Given the description of an element on the screen output the (x, y) to click on. 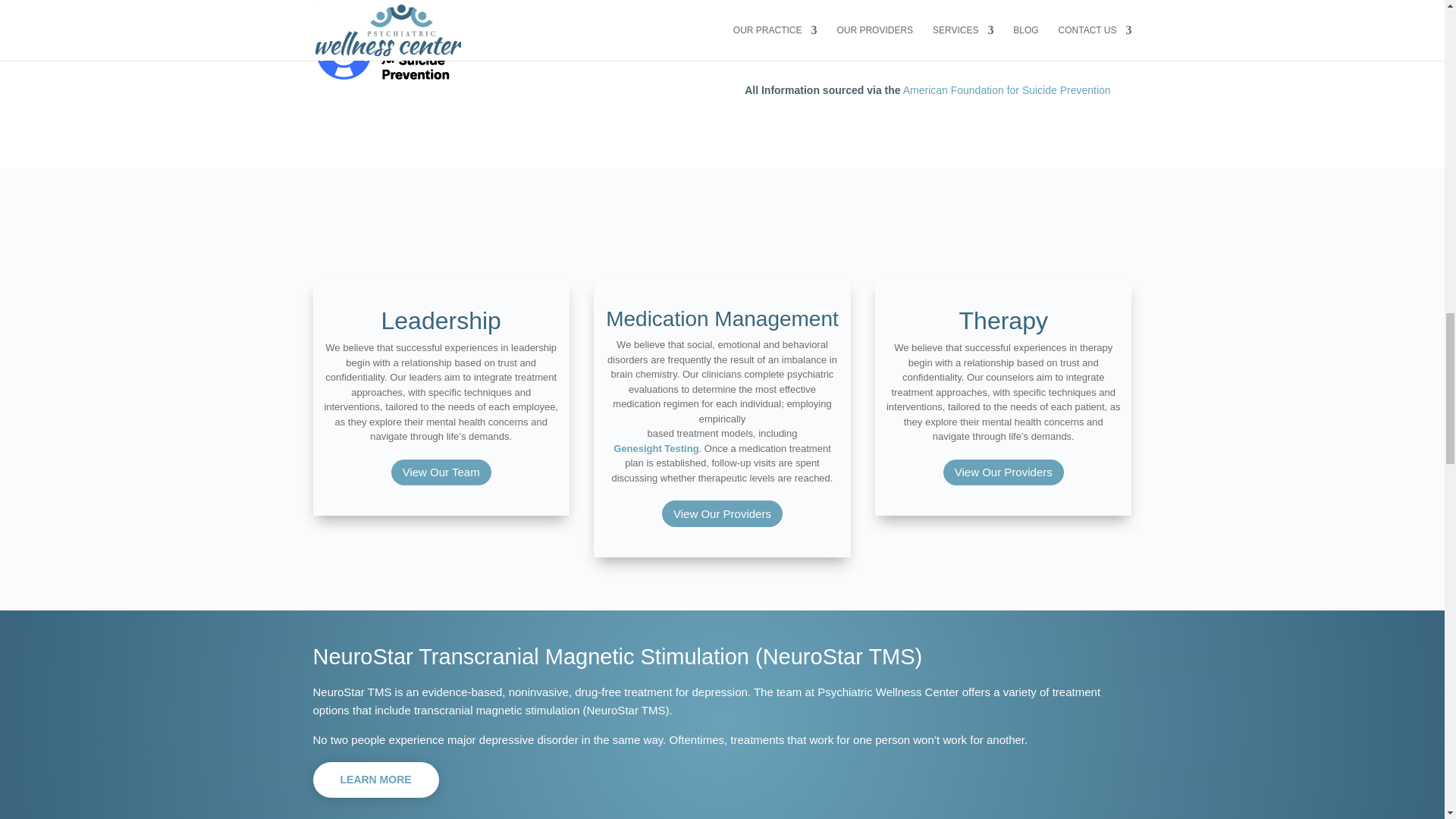
View Our Providers (1003, 472)
View Our Providers (722, 513)
American Foundation for Suicide Prevention (1006, 90)
Genesight Testing (655, 448)
LEARN MORE (375, 780)
View Our Team (441, 472)
